Given the description of an element on the screen output the (x, y) to click on. 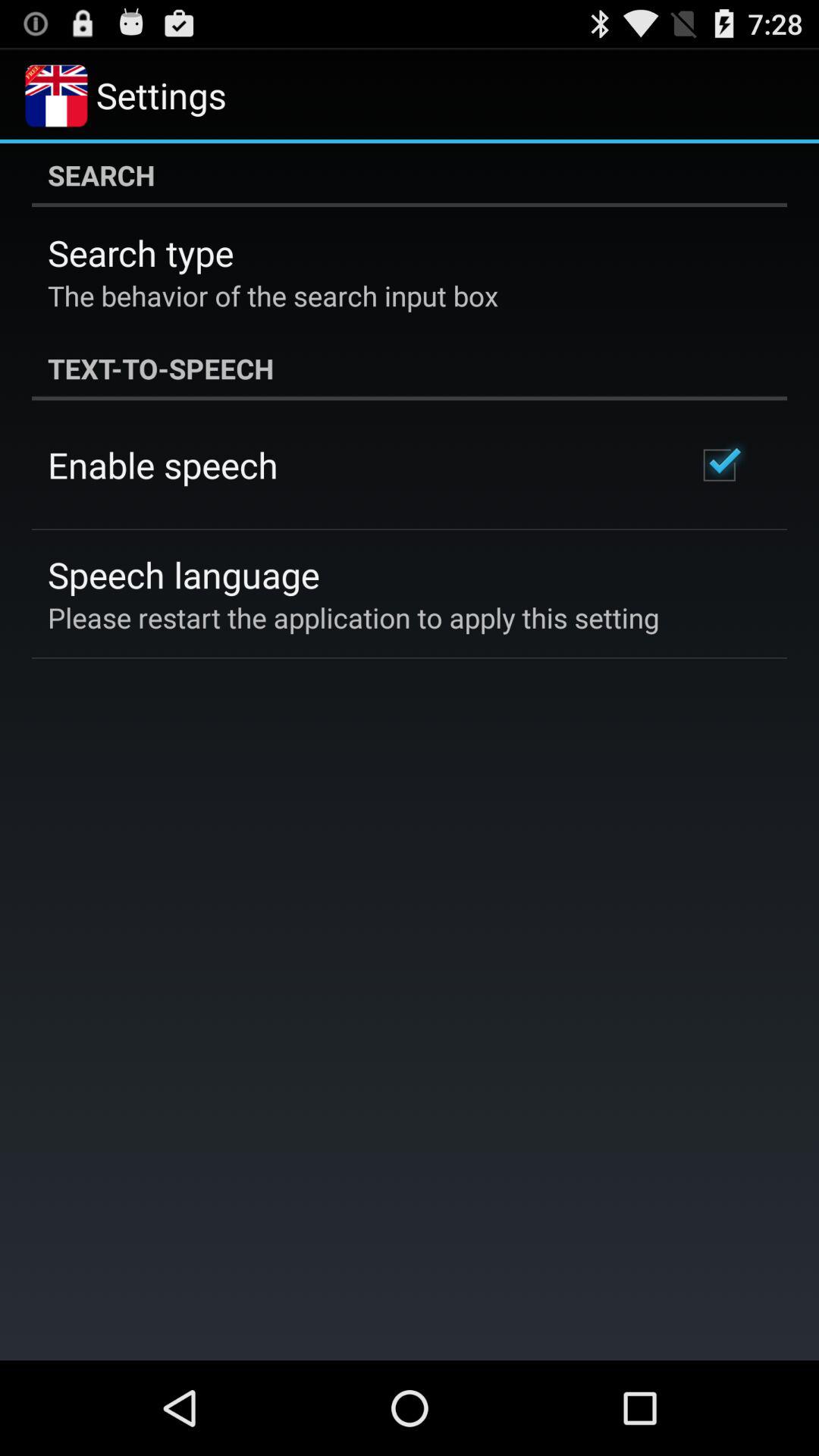
swipe until enable speech item (162, 464)
